Given the description of an element on the screen output the (x, y) to click on. 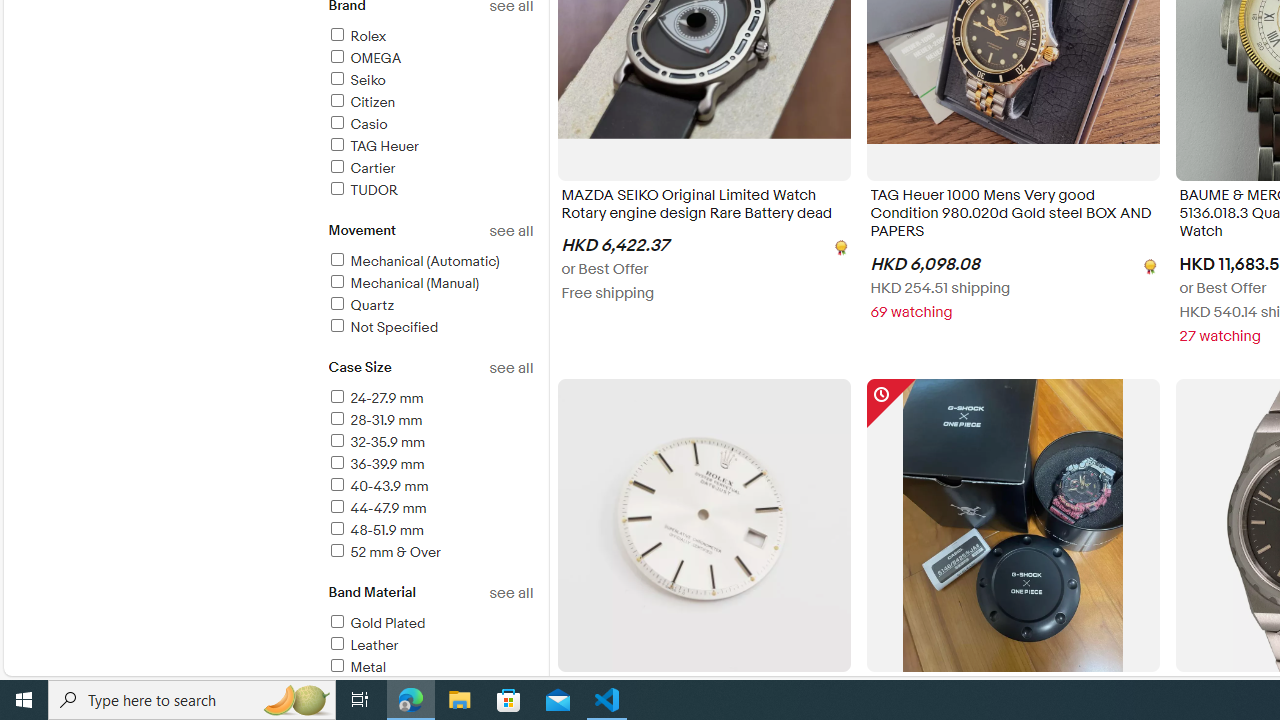
Leather (430, 646)
Metal (356, 667)
See all movement refinements (510, 231)
44-47.9 mm (430, 509)
Gold Plated (430, 624)
40-43.9 mm (377, 486)
Gold Plated (376, 623)
52 mm & Over (383, 552)
Quartz (360, 304)
